Given the description of an element on the screen output the (x, y) to click on. 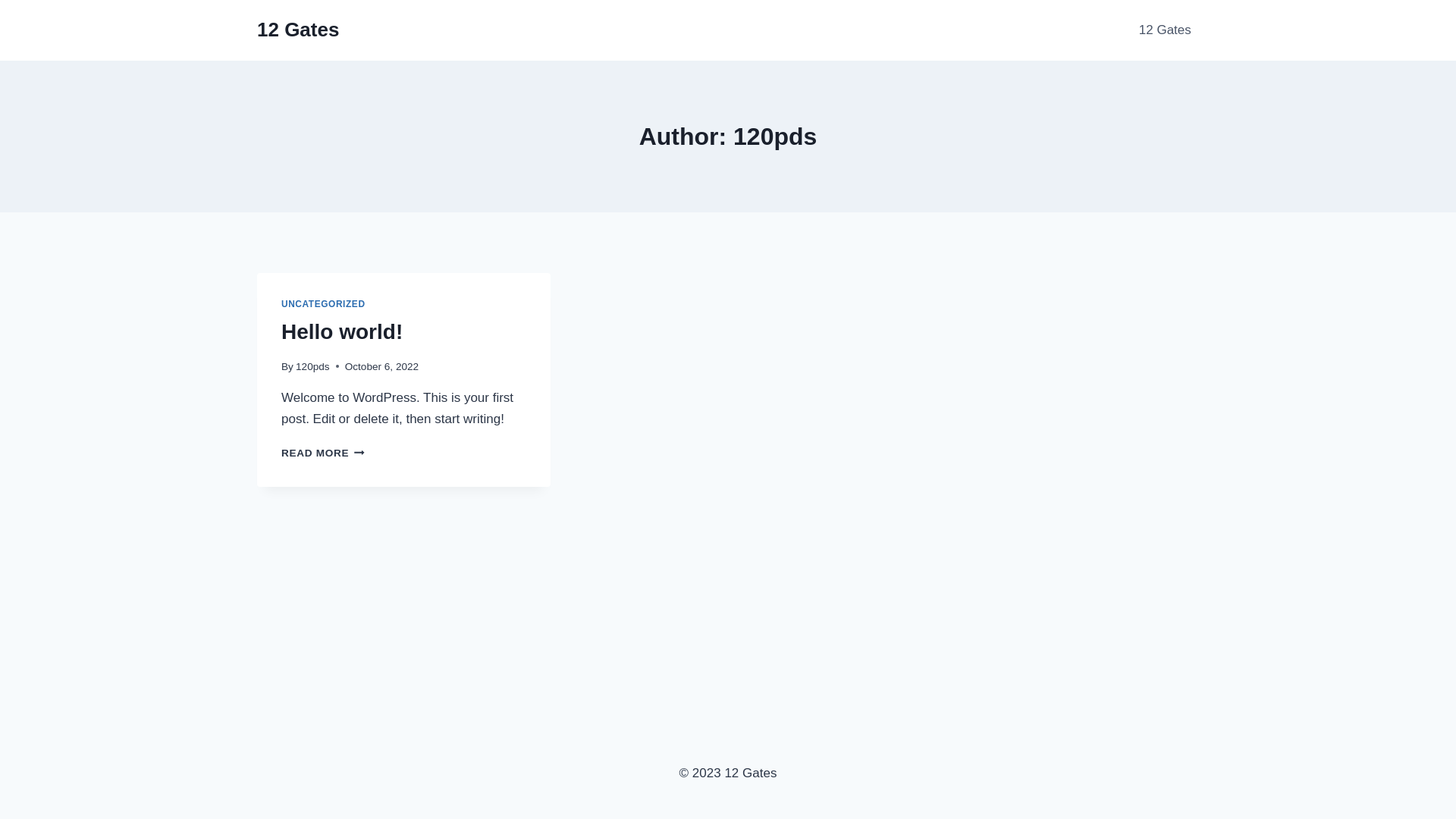
120pds Element type: text (312, 366)
UNCATEGORIZED Element type: text (323, 303)
READ MORE
HELLO WORLD! Element type: text (322, 452)
Hello world! Element type: text (341, 331)
12 Gates Element type: text (297, 29)
12 Gates Element type: text (1164, 30)
